Given the description of an element on the screen output the (x, y) to click on. 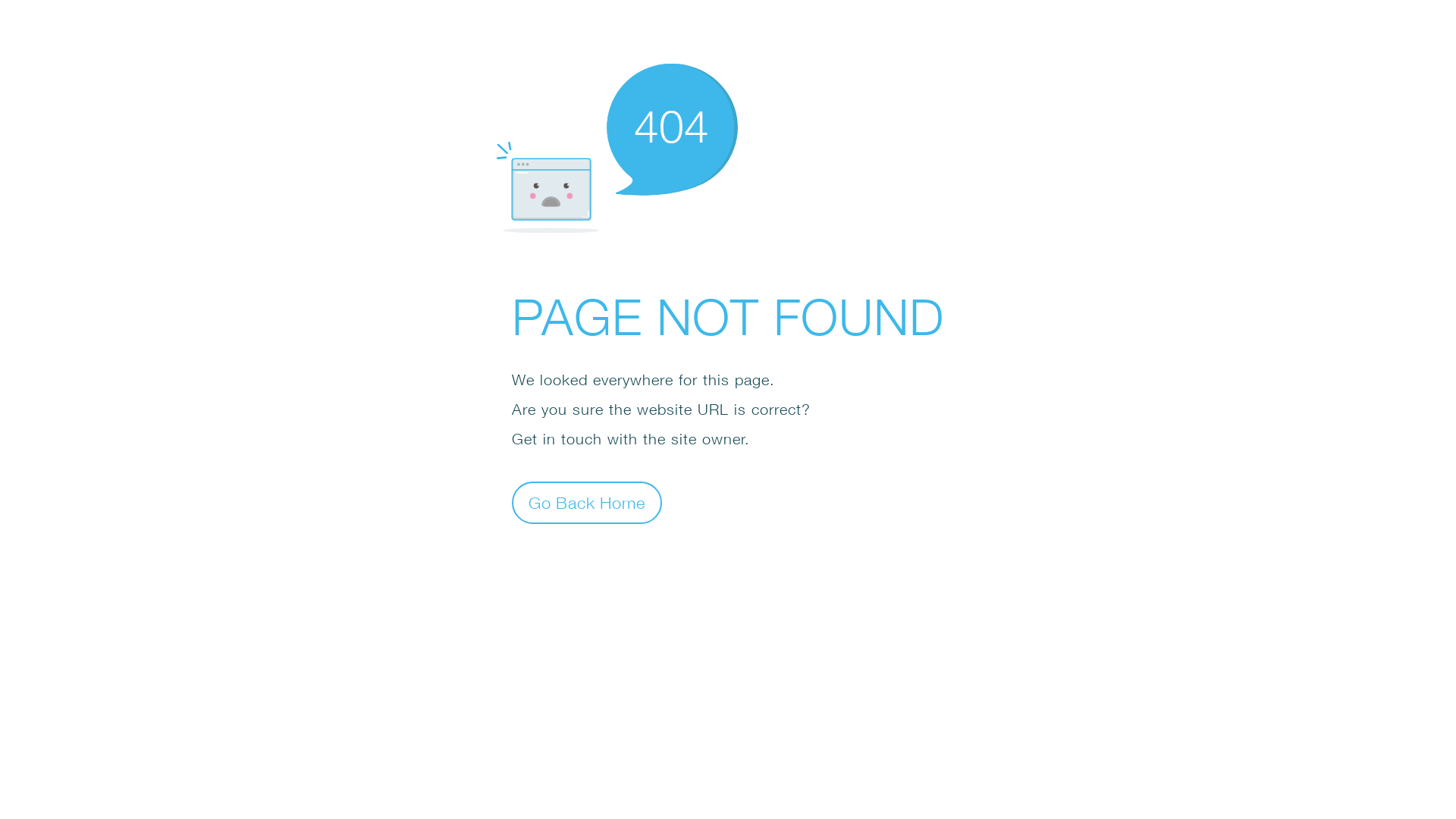
Go Back Home Element type: text (586, 502)
